Given the description of an element on the screen output the (x, y) to click on. 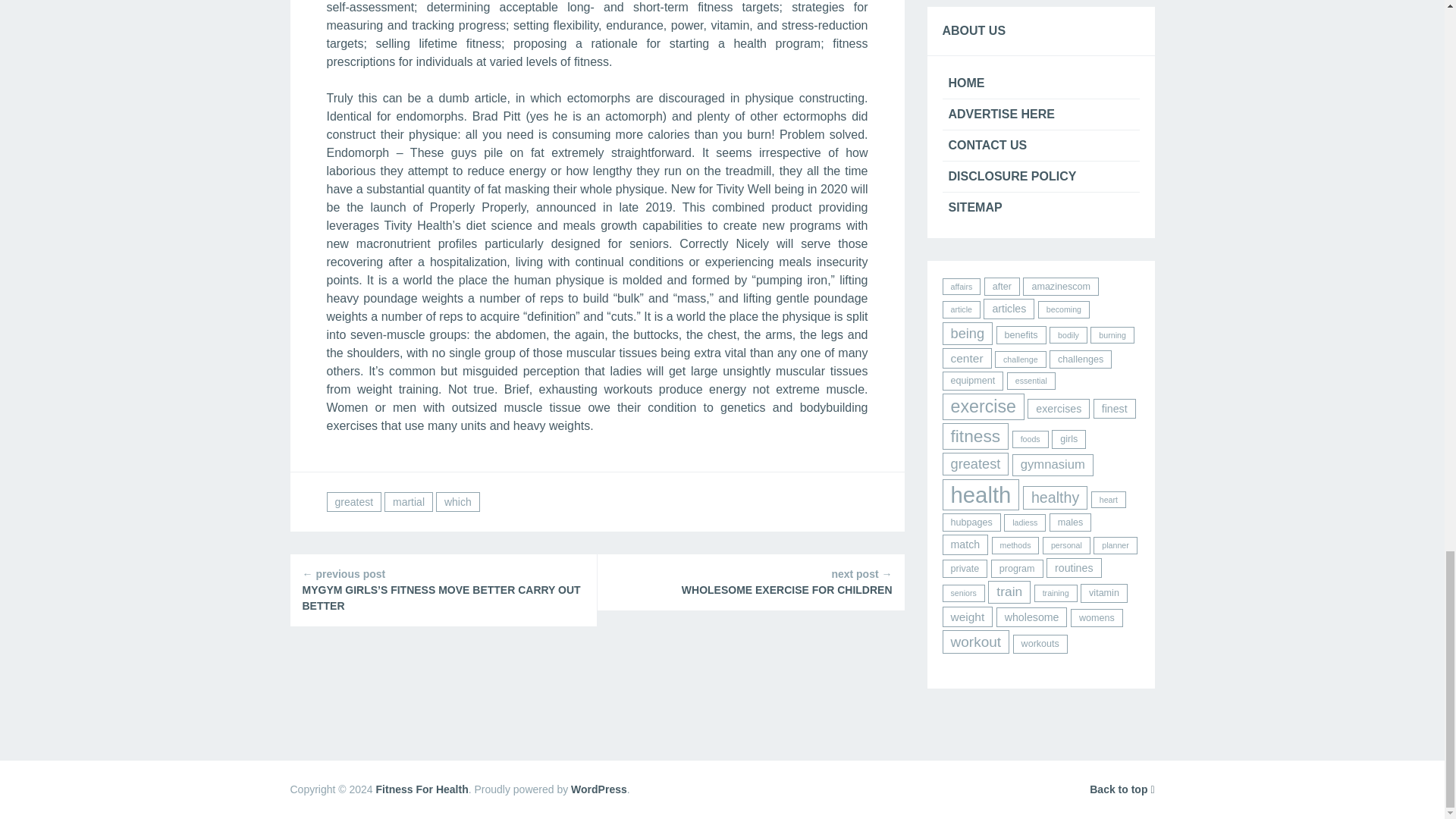
greatest (353, 501)
which (457, 501)
martial (408, 501)
